Given the description of an element on the screen output the (x, y) to click on. 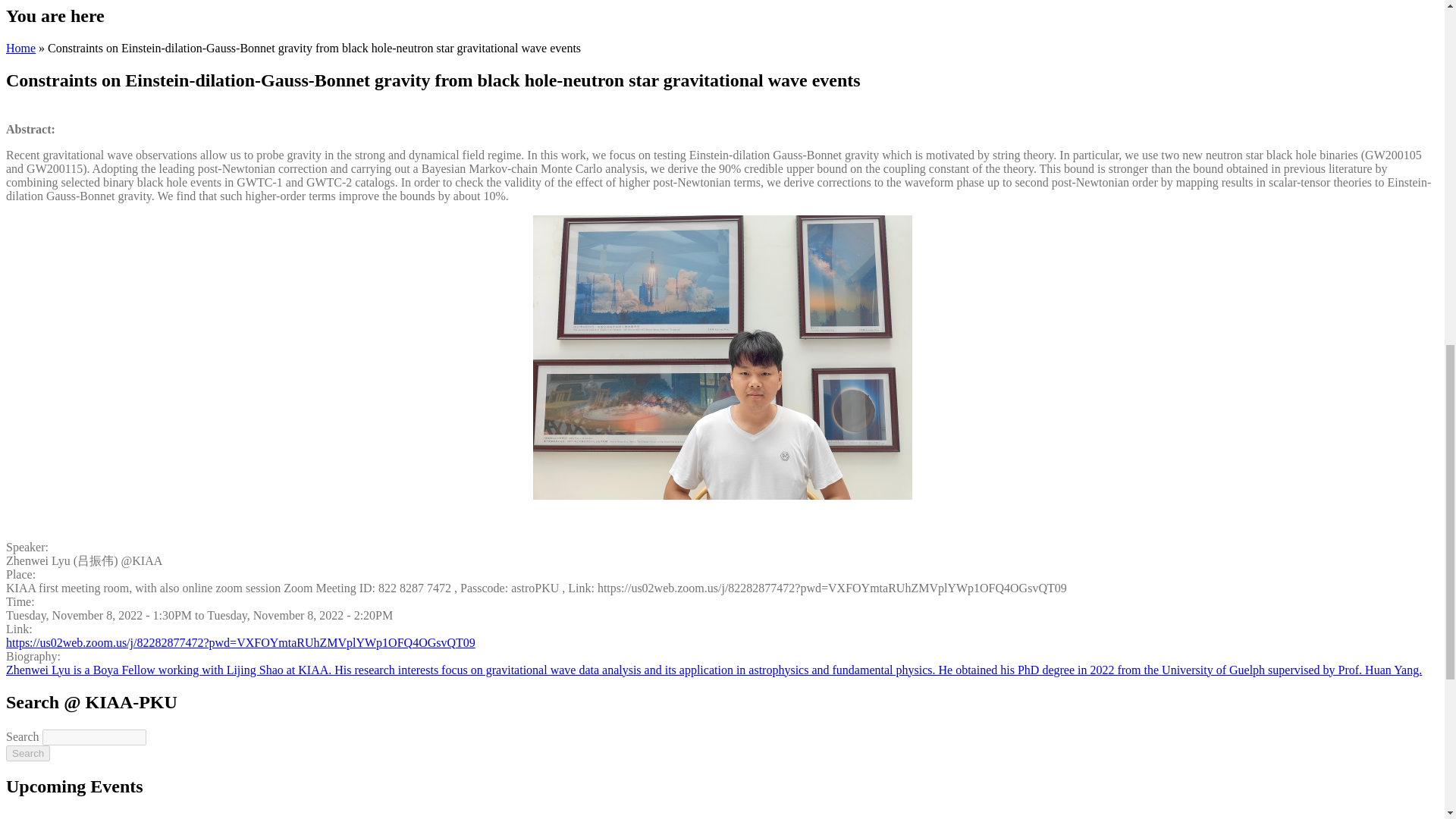
Enter the terms you wish to search for. (94, 737)
Search (27, 753)
